Given the description of an element on the screen output the (x, y) to click on. 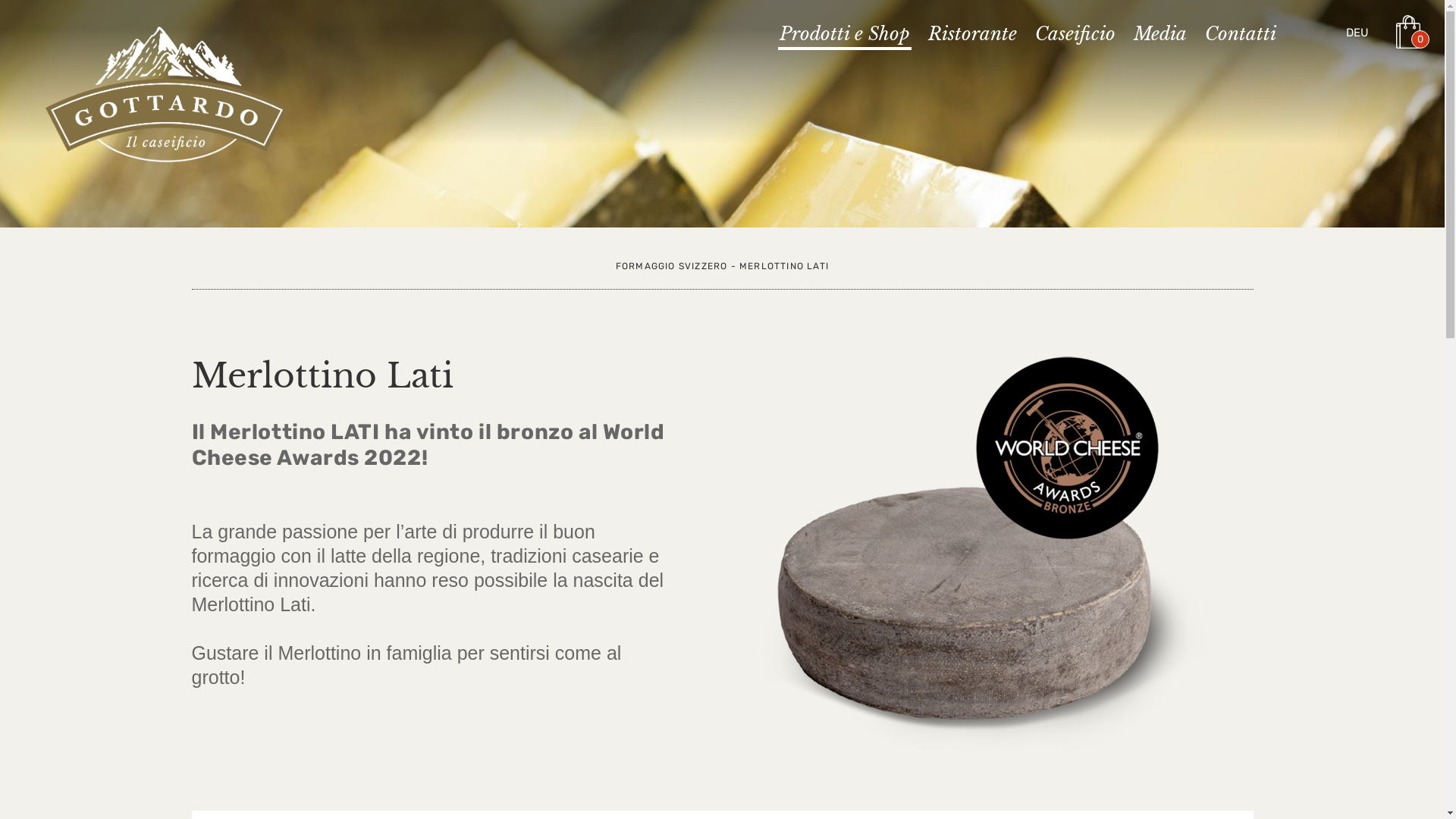
0 Element type: text (1412, 31)
Media Element type: text (1160, 35)
DEU Element type: text (1357, 32)
Contatti Element type: text (1240, 35)
Caseificio Element type: text (1075, 35)
Prodotti e Shop Element type: text (844, 37)
Ristorante Element type: text (972, 35)
